Given the description of an element on the screen output the (x, y) to click on. 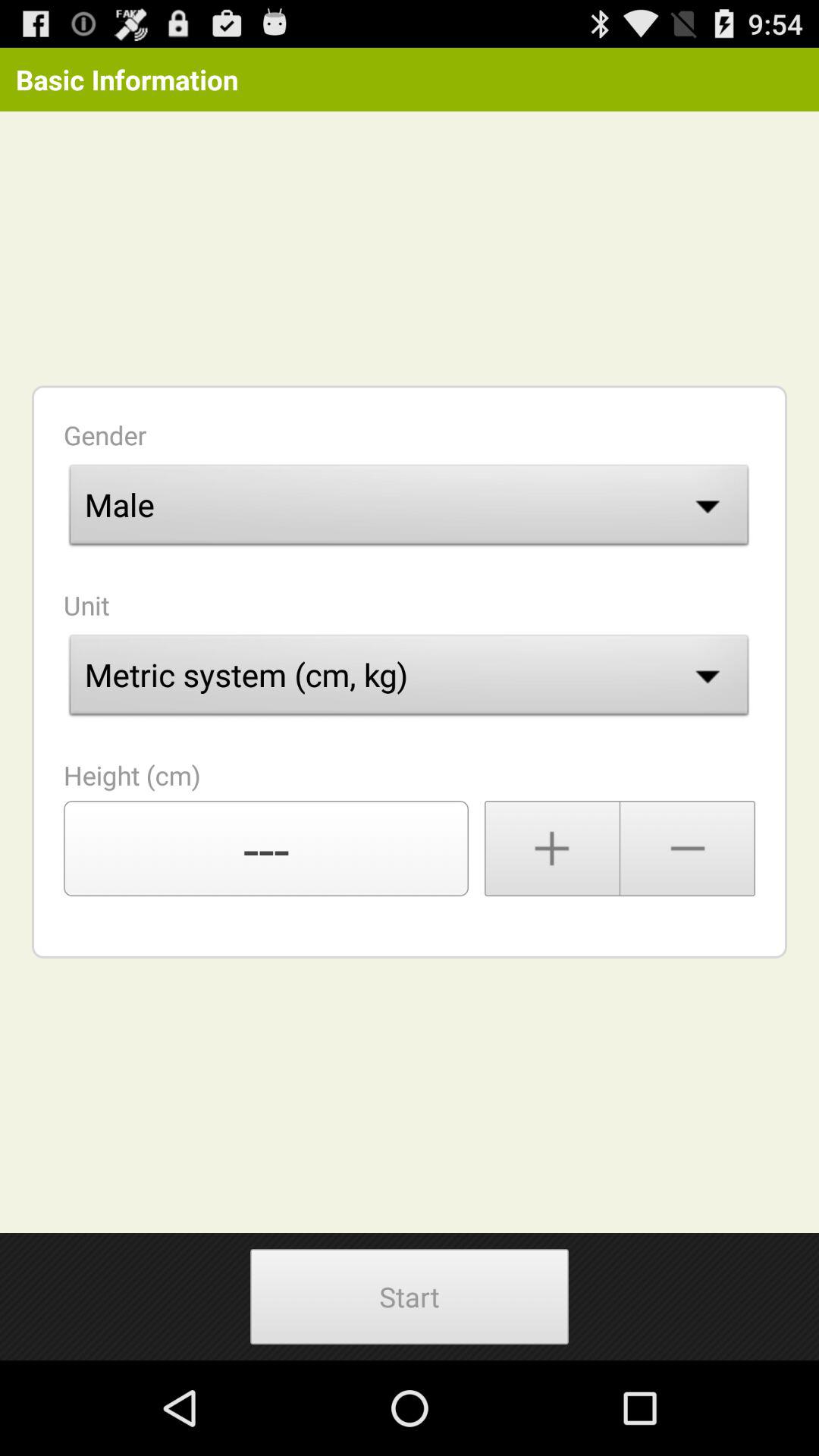
switch minus option (687, 848)
